Given the description of an element on the screen output the (x, y) to click on. 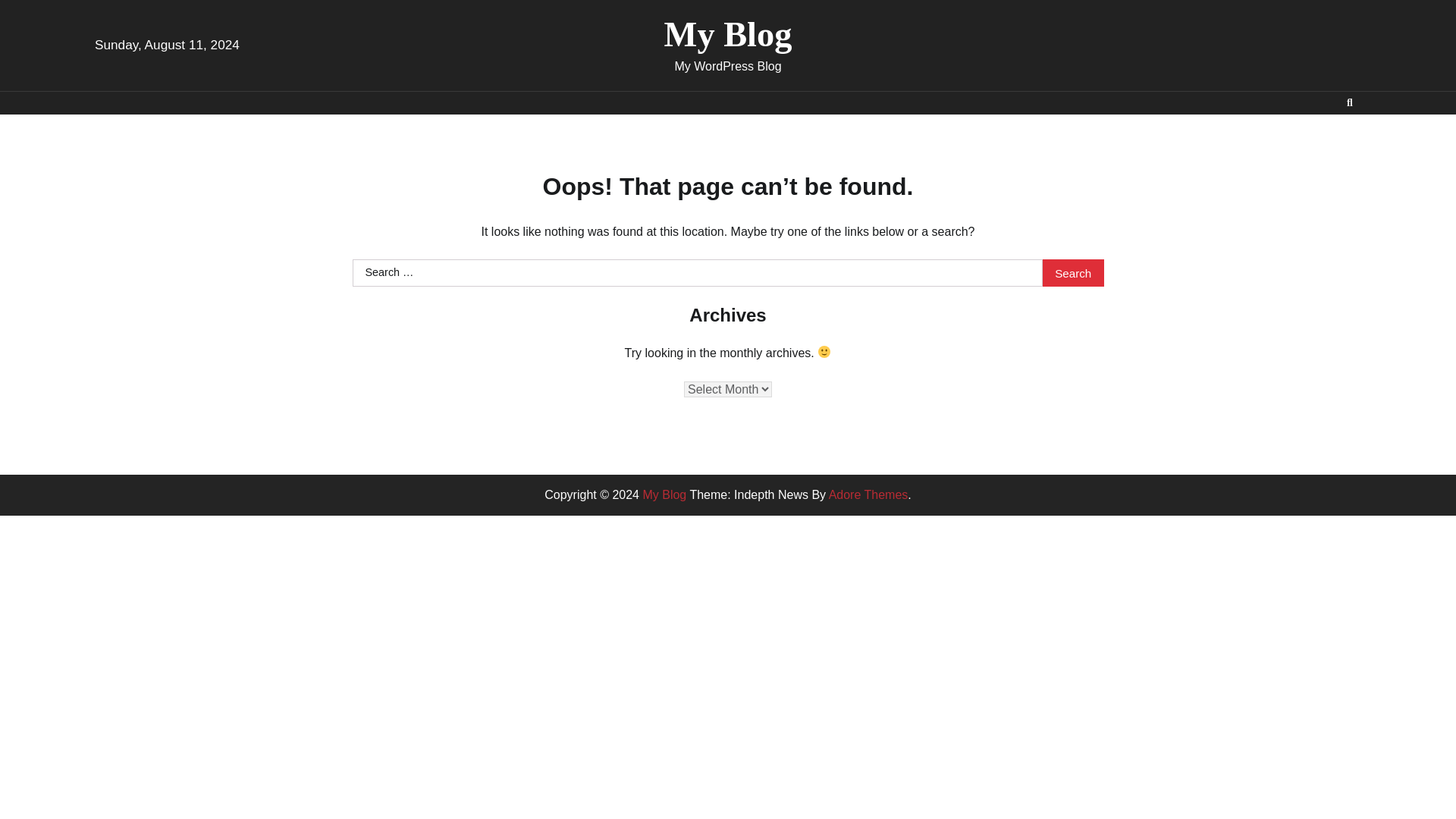
Search (1349, 102)
Search (1072, 272)
Search (1072, 272)
Adore Themes (868, 494)
Search (1322, 138)
My Blog (663, 494)
My Blog (727, 34)
Search (1072, 272)
